Given the description of an element on the screen output the (x, y) to click on. 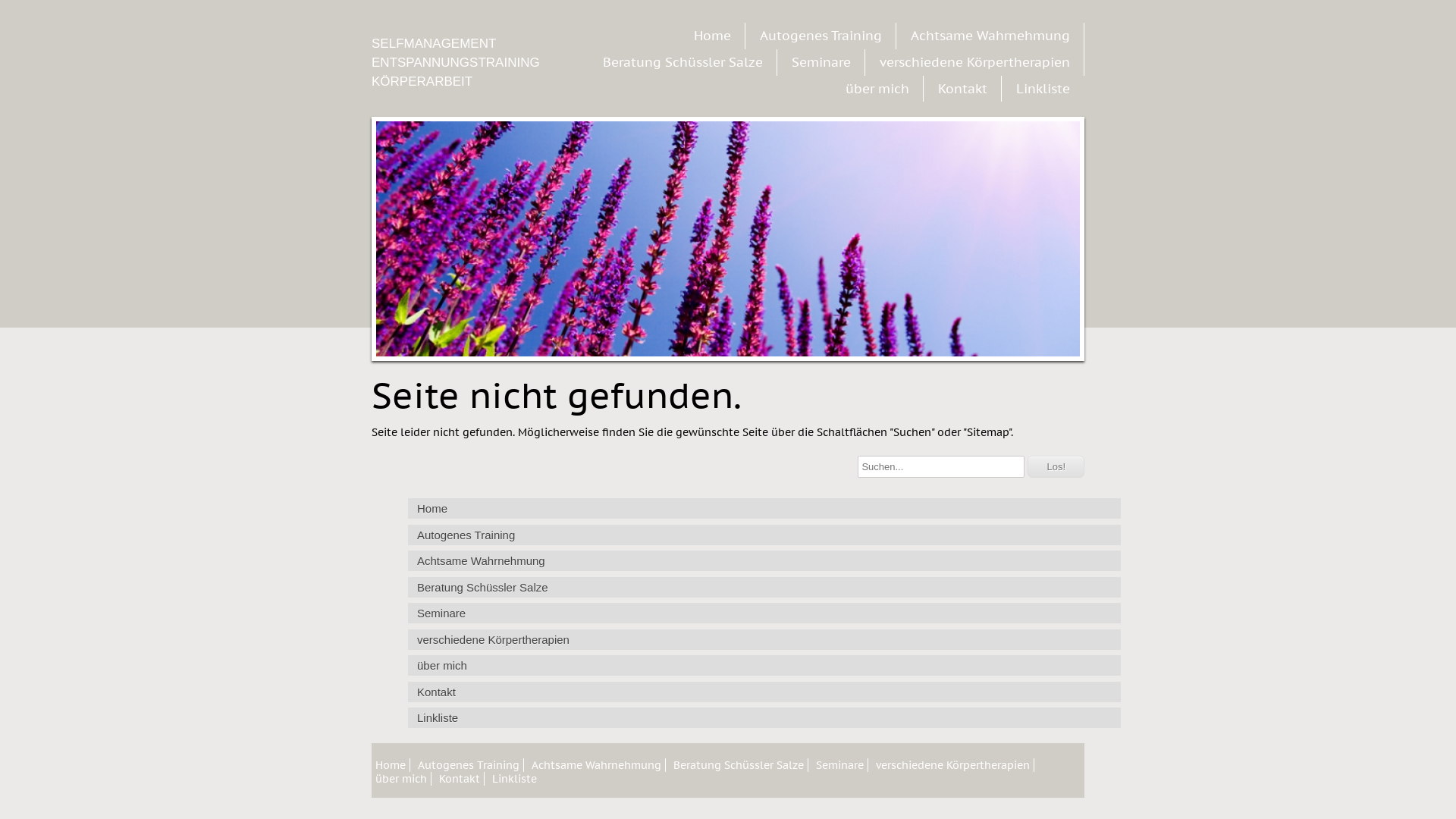
Achtsame Wahrnehmung Element type: text (598, 764)
Seminare Element type: text (841, 764)
Autogenes Training Element type: text (763, 534)
Linkliste Element type: text (763, 717)
Los! Element type: text (1055, 466)
Kontakt Element type: text (962, 88)
Home Element type: text (763, 508)
Home Element type: text (712, 35)
Autogenes Training Element type: text (820, 35)
Linkliste Element type: text (1042, 88)
Linkliste Element type: text (516, 778)
Seminare Element type: text (763, 612)
Kontakt Element type: text (763, 691)
Seminare Element type: text (821, 62)
Autogenes Training Element type: text (470, 764)
Kontakt Element type: text (461, 778)
Achtsame Wahrnehmung Element type: text (990, 35)
Home Element type: text (392, 764)
Achtsame Wahrnehmung Element type: text (763, 560)
